Given the description of an element on the screen output the (x, y) to click on. 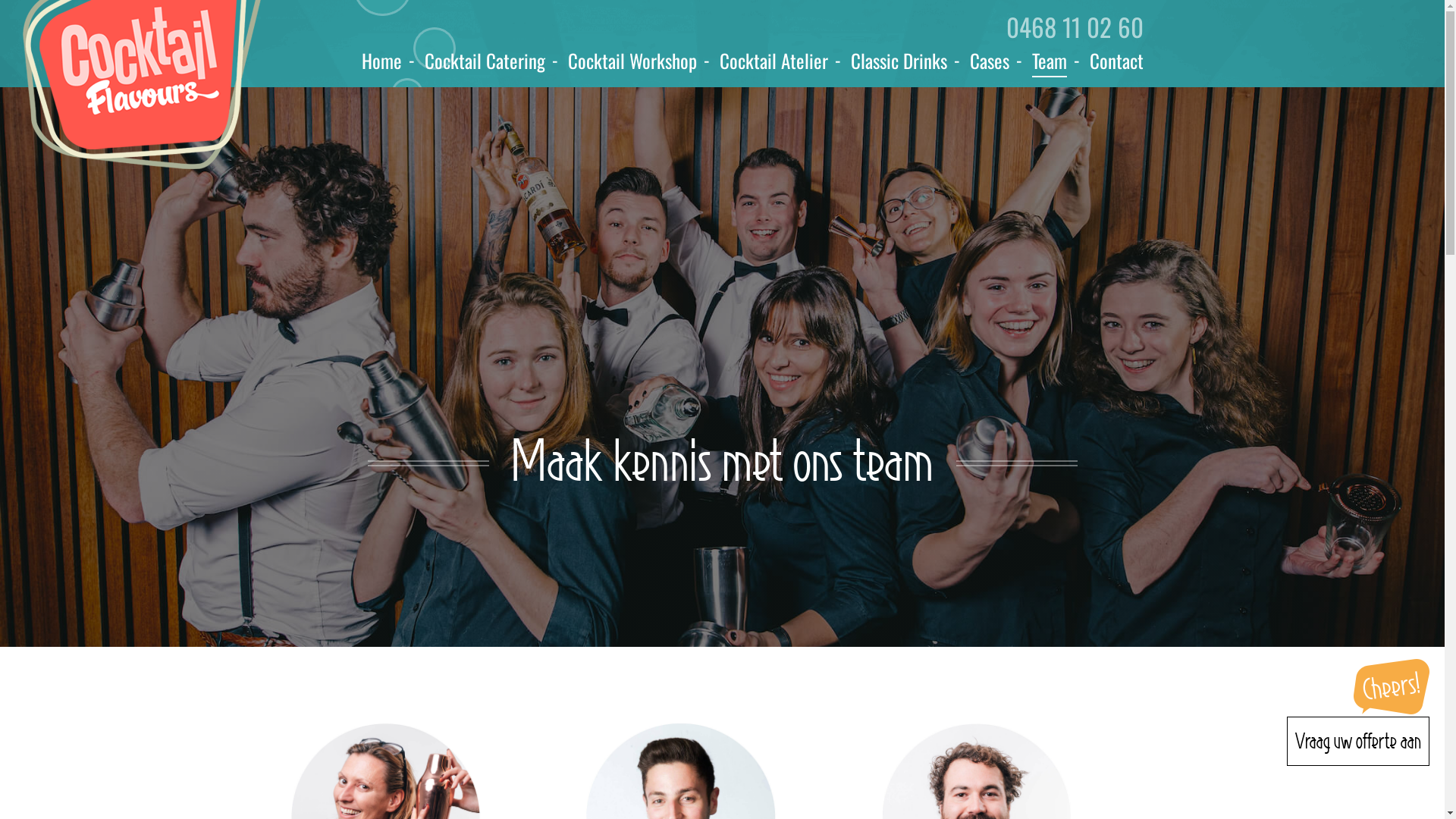
Cocktail Atelier Element type: text (772, 60)
Vraag uw offerte aan Element type: text (1357, 740)
Cocktail Catering Element type: text (484, 60)
Cases Element type: text (988, 60)
0468 11 02 60 Element type: text (1073, 26)
Home Element type: text (380, 60)
Cocktail Workshop Element type: text (631, 60)
Contact Element type: text (1115, 60)
Team Element type: text (1048, 61)
Classic Drinks Element type: text (898, 60)
